Given the description of an element on the screen output the (x, y) to click on. 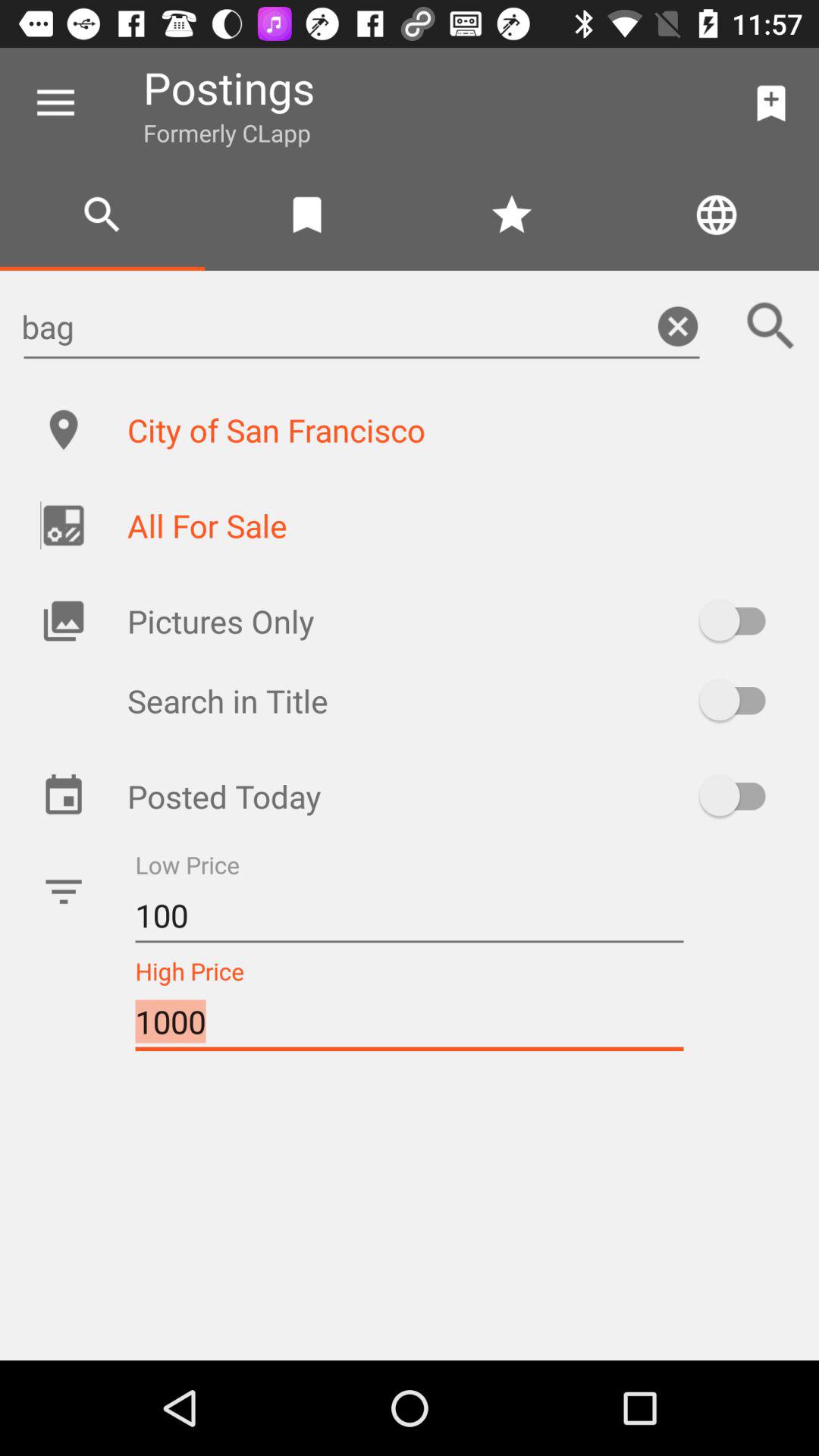
toggle posted today option (739, 795)
